Given the description of an element on the screen output the (x, y) to click on. 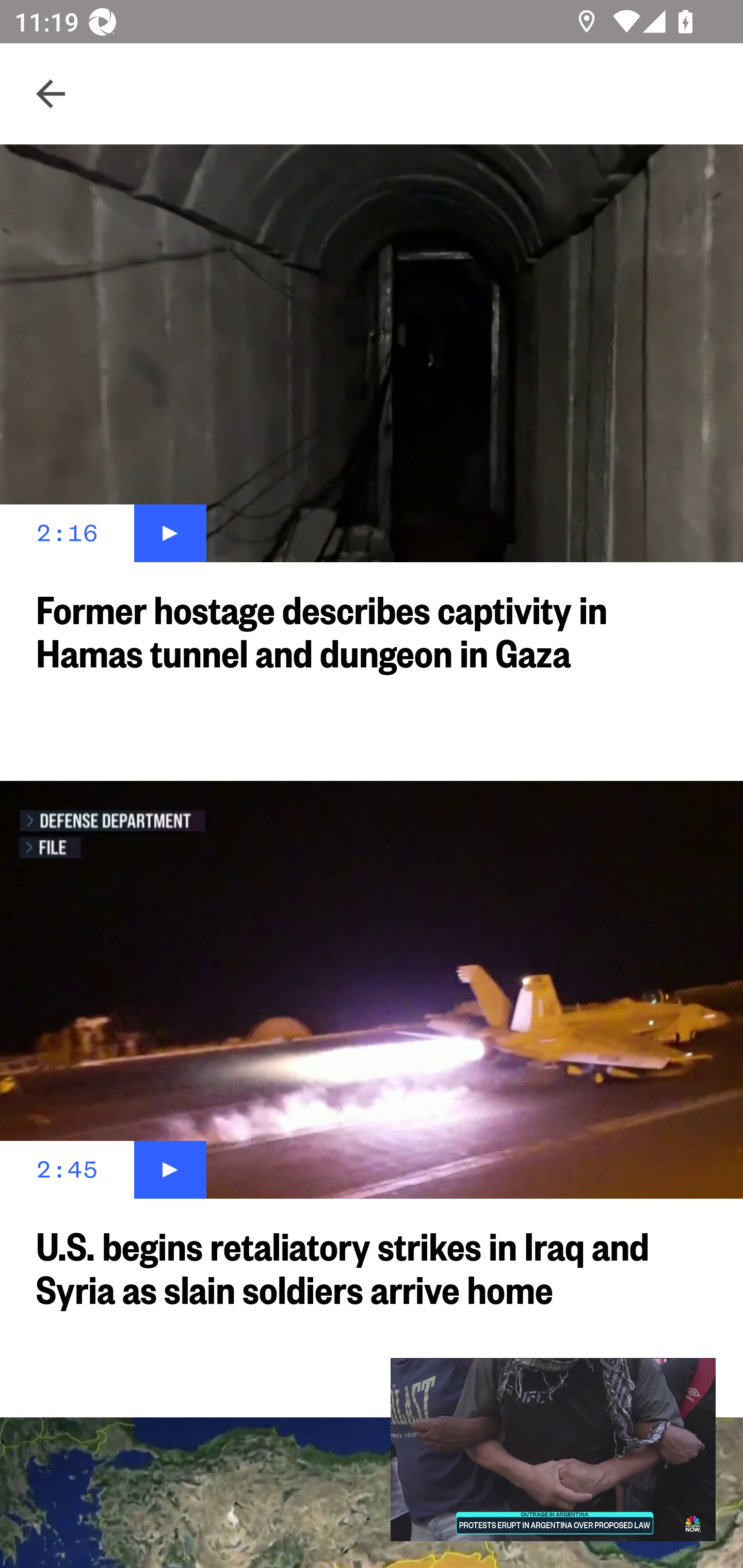
Navigate up (50, 93)
